Given the description of an element on the screen output the (x, y) to click on. 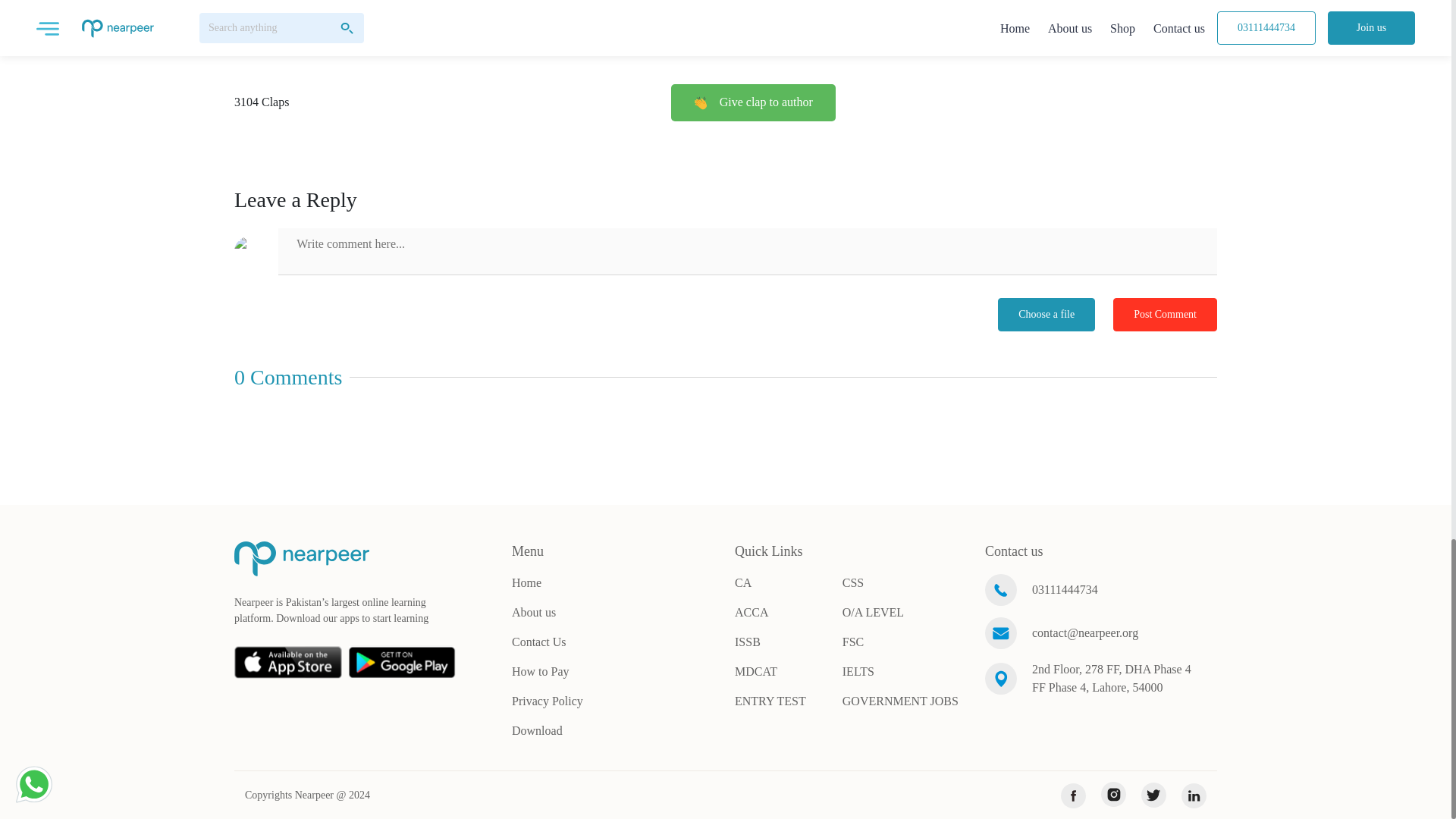
About us (534, 612)
Home (526, 582)
Post Comment (1165, 314)
Give clap to author (753, 102)
